Given the description of an element on the screen output the (x, y) to click on. 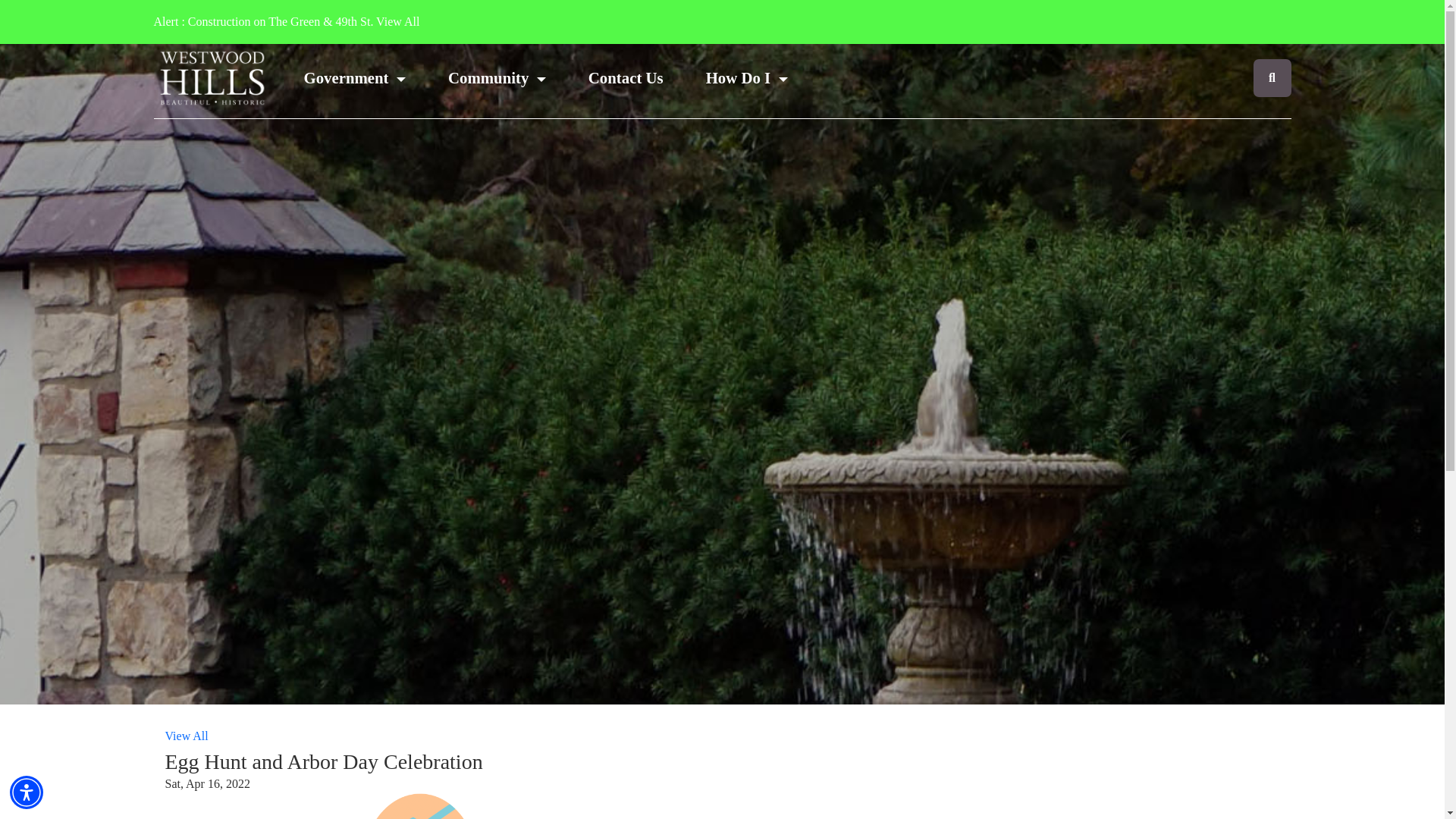
Community (496, 77)
Accessibility Menu (26, 792)
How Do I (746, 77)
Contact Us (625, 77)
Government (354, 77)
View All (397, 21)
